Given the description of an element on the screen output the (x, y) to click on. 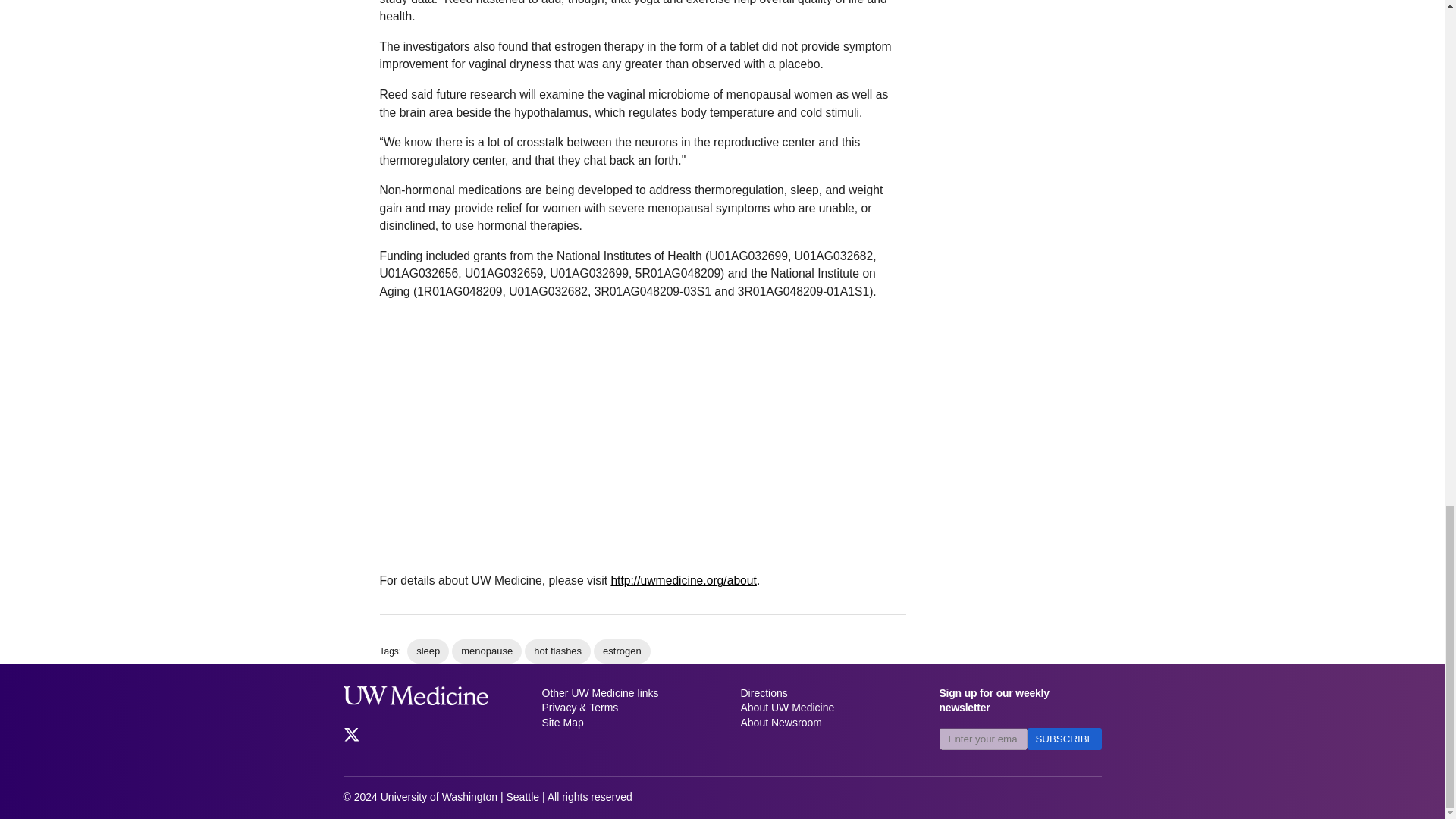
estrogen (622, 651)
sleep (427, 651)
hot flashes (557, 651)
Other UW Medicine links (622, 693)
menopause (486, 651)
Site Map (622, 723)
